Given the description of an element on the screen output the (x, y) to click on. 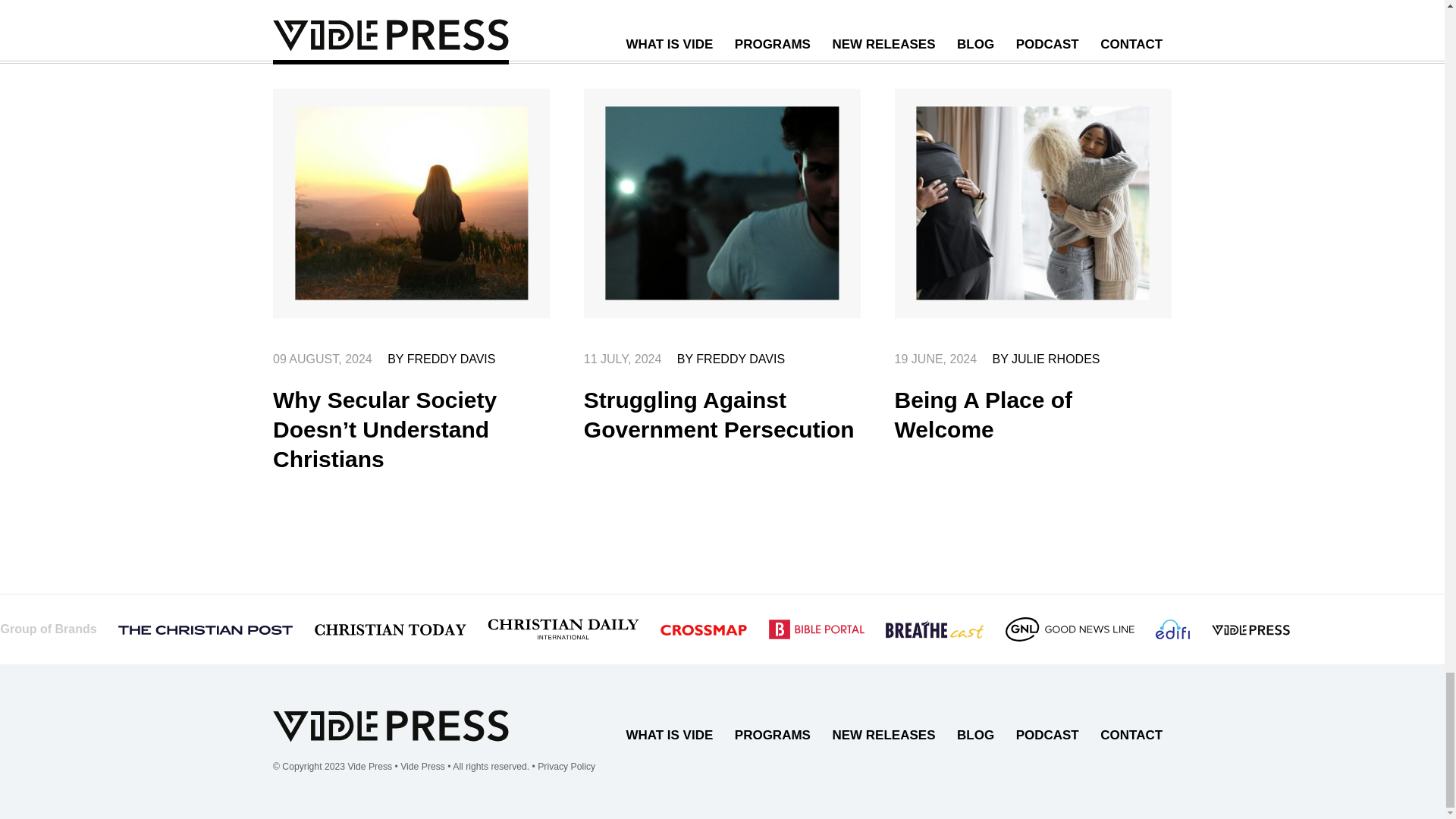
FREDDY DAVIS (739, 358)
WHAT IS VIDE (668, 735)
JULIE RHODES (1055, 358)
FREDDY DAVIS (451, 358)
Being A Place of Welcome (984, 414)
Struggling Against Government Persecution (718, 414)
PROGRAMS (772, 735)
NEW RELEASES (884, 735)
BLOG (975, 735)
